Given the description of an element on the screen output the (x, y) to click on. 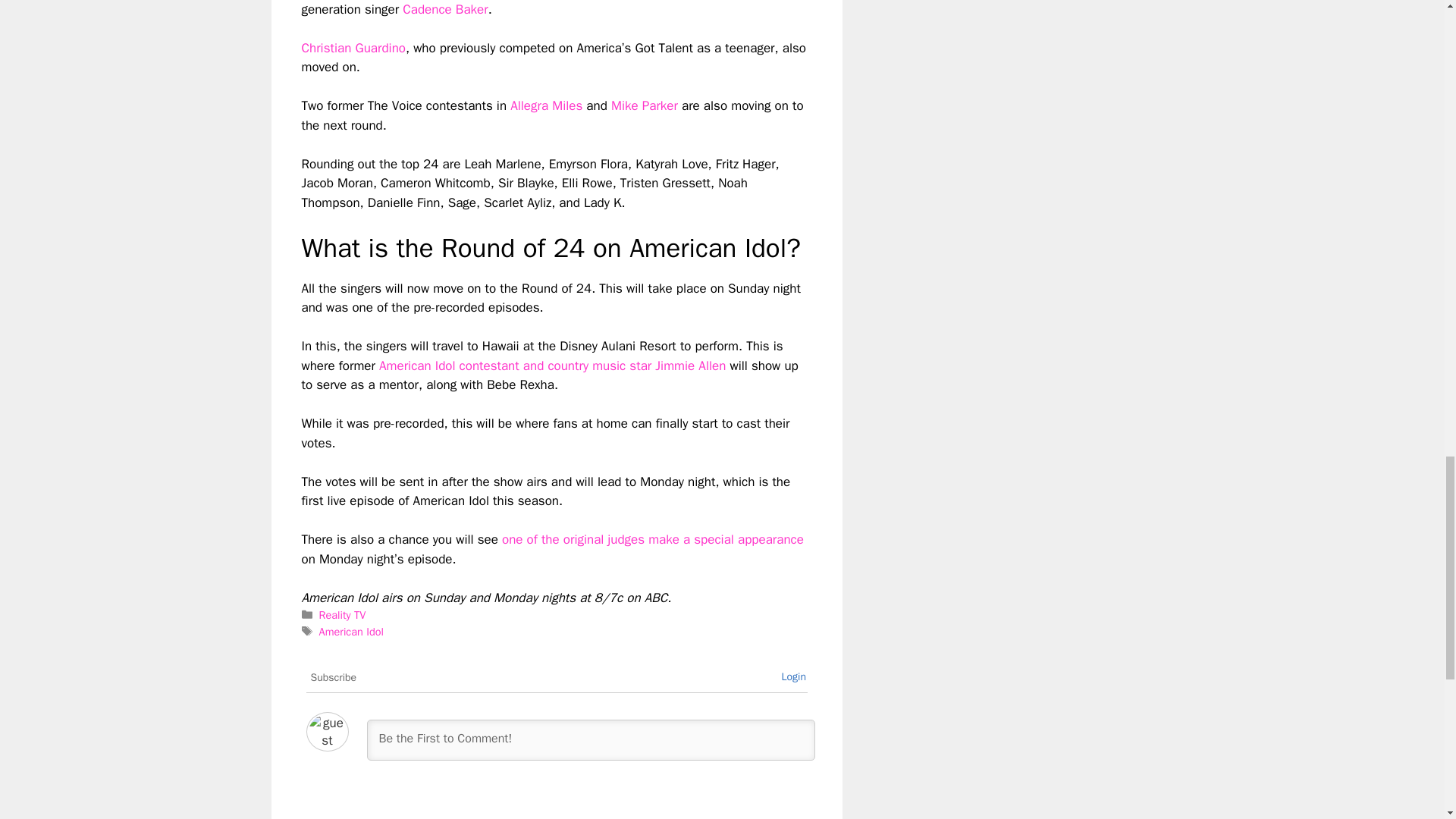
American Idol (351, 631)
Allegra Miles (546, 105)
Mike Parker (644, 105)
Reality TV (342, 614)
American Idol contestant and country music star Jimmie Allen (551, 365)
Login (793, 676)
one of the original judges make a special appearance (652, 539)
Cadence Baker (445, 9)
Christian Guardino (353, 48)
